Given the description of an element on the screen output the (x, y) to click on. 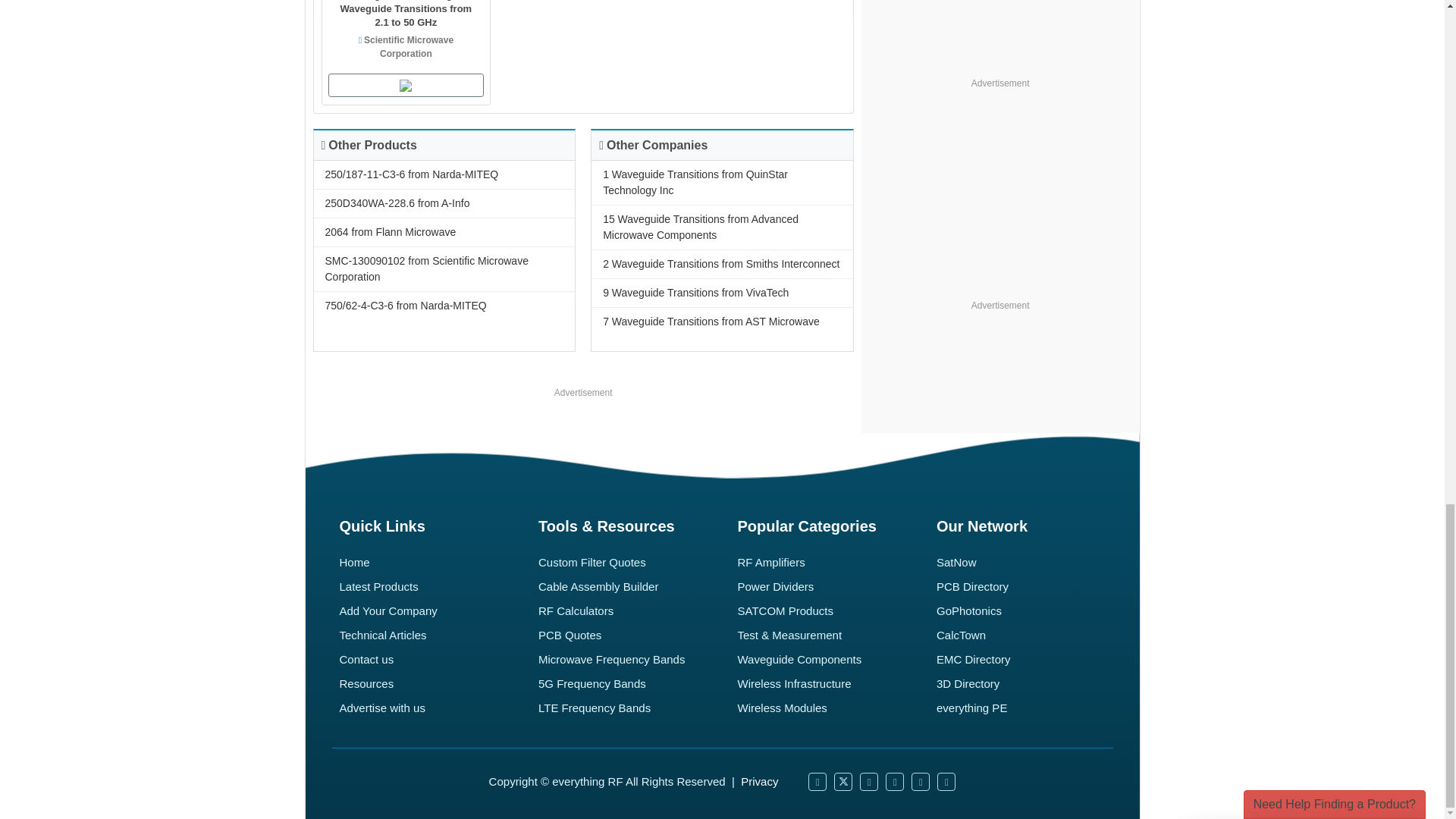
Products and News RSS xml feed (946, 782)
News RSS xml feed (894, 782)
Products RSS xml feed (920, 782)
